Given the description of an element on the screen output the (x, y) to click on. 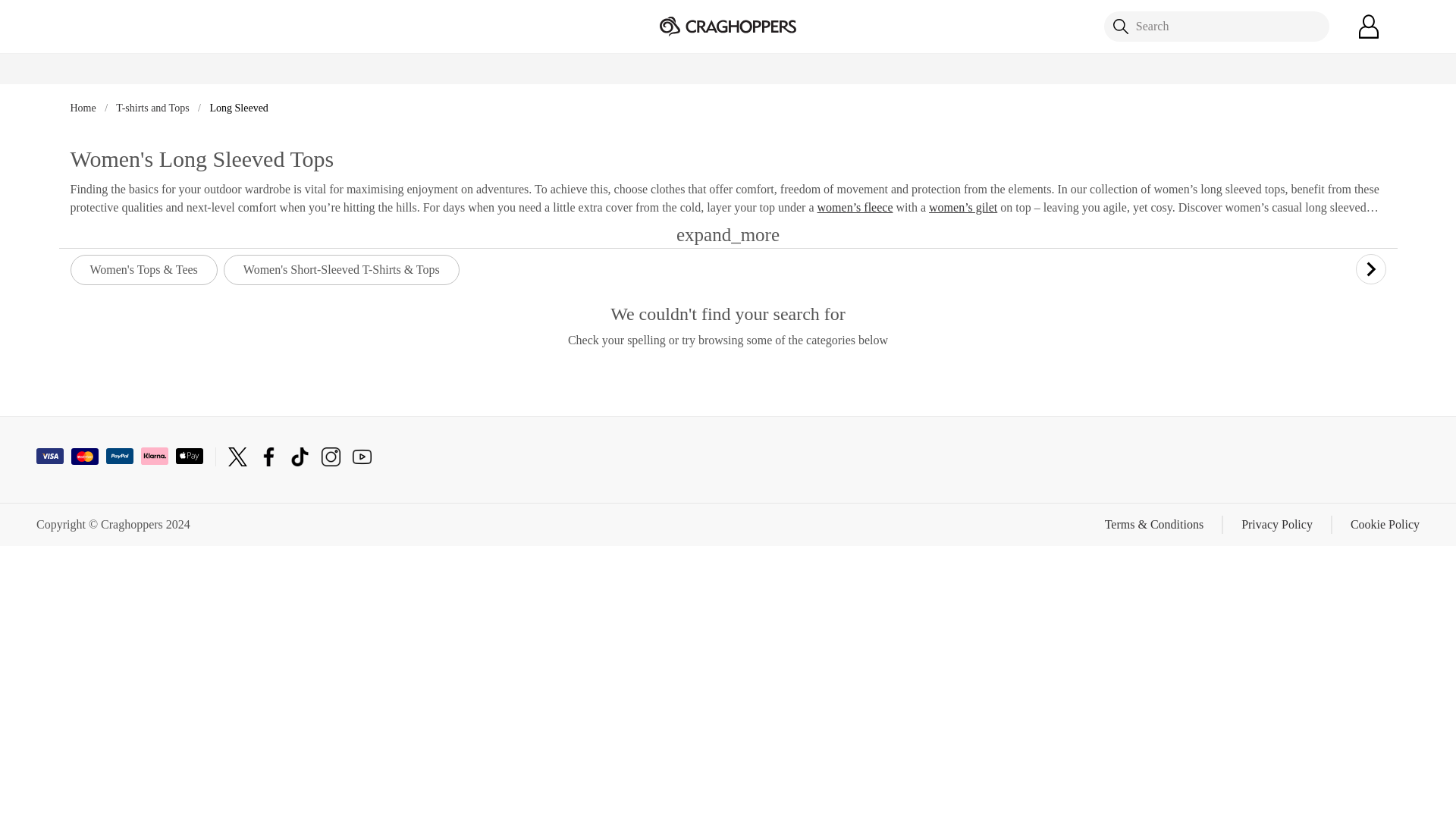
Search (1216, 26)
T-shirts and Tops (154, 107)
Right (1370, 268)
Home Page (727, 24)
Home (84, 107)
Long Sleeved (238, 107)
